Given the description of an element on the screen output the (x, y) to click on. 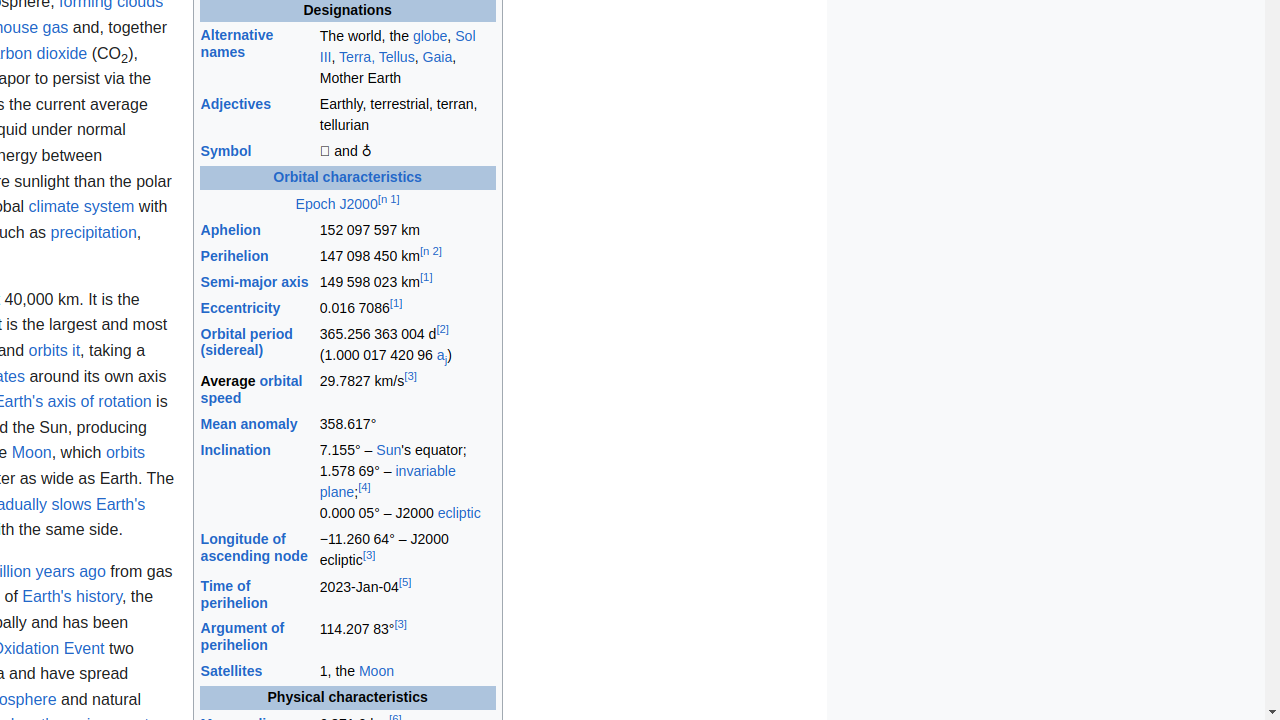
climate system Element type: link (81, 207)
Gaia Element type: link (437, 56)
Terra, Tellus Element type: link (377, 56)
ecliptic Element type: link (459, 513)
Earth's history Element type: link (72, 597)
